Given the description of an element on the screen output the (x, y) to click on. 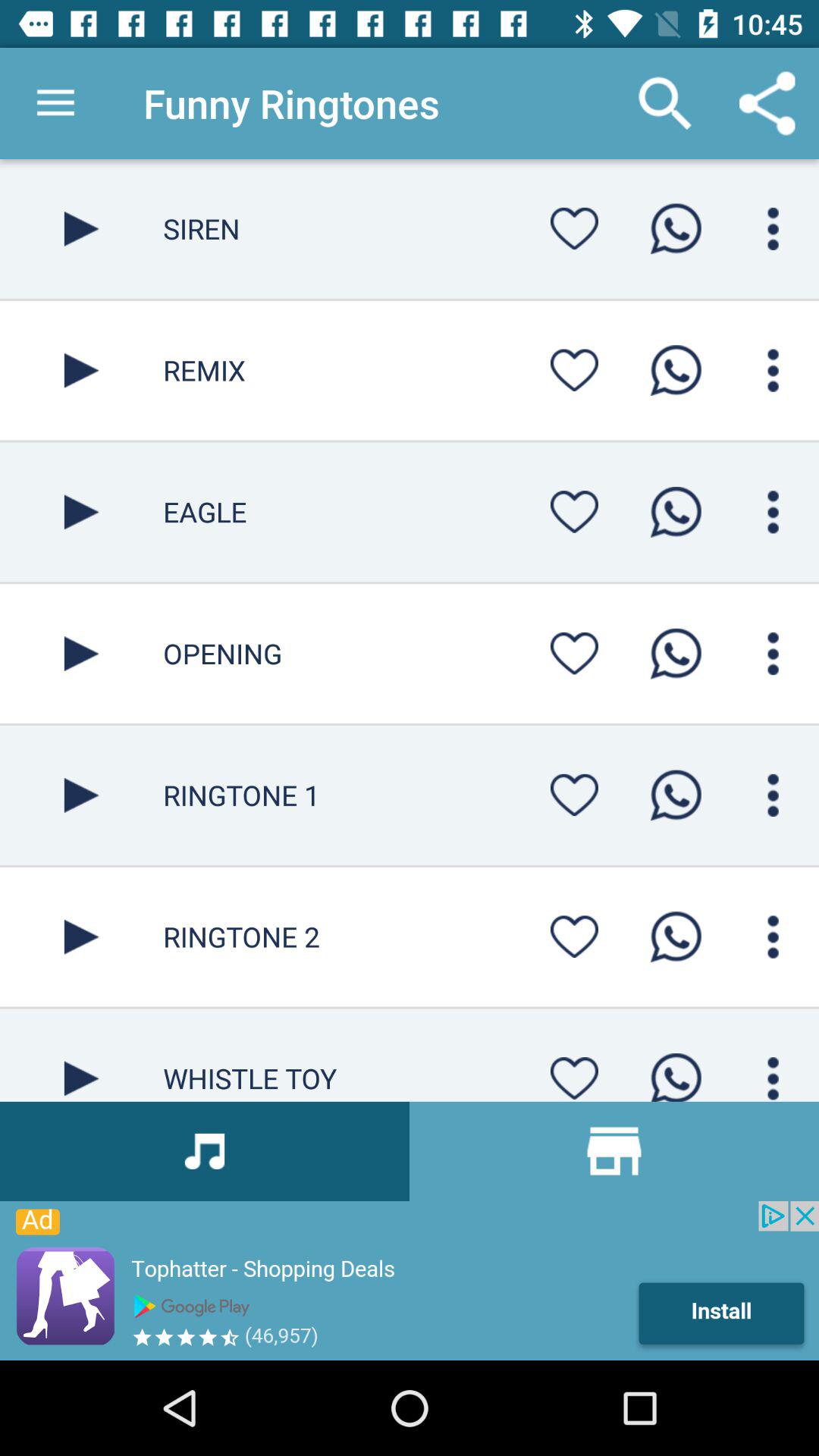
stop button (81, 1054)
